Given the description of an element on the screen output the (x, y) to click on. 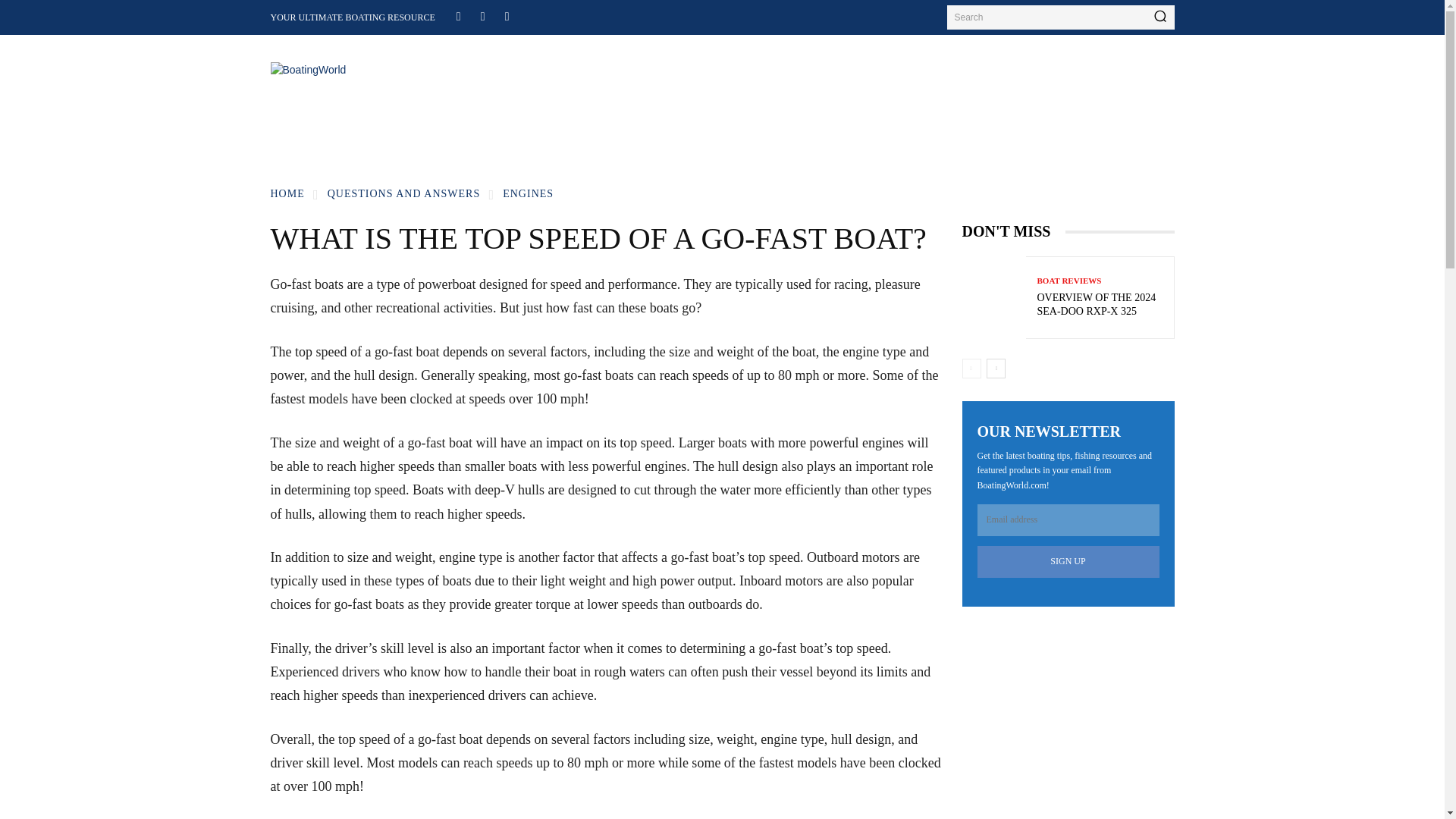
View all posts in Questions and Answers (403, 193)
Instagram (482, 15)
Twitter (507, 15)
View all posts in Engines (527, 193)
BoatingWorld (372, 81)
Facebook (458, 15)
